Given the description of an element on the screen output the (x, y) to click on. 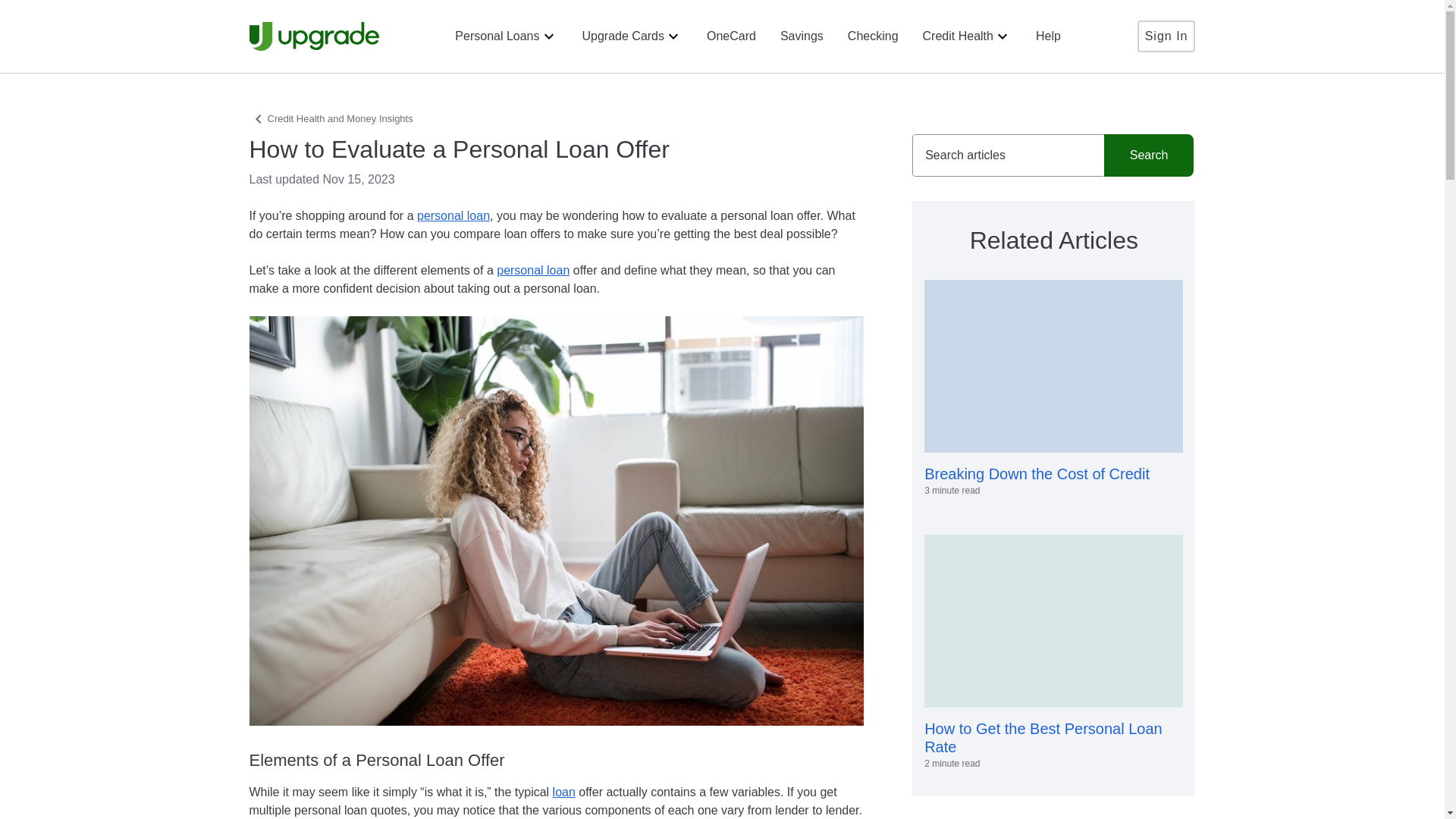
Help (1048, 36)
Savings (802, 36)
loan (564, 791)
OneCard (730, 36)
Personal Loans (505, 36)
Credit Health and Money Insights (721, 118)
personal loan (452, 215)
Search (1148, 155)
Upgrade Cards (1053, 388)
Checking (632, 36)
personal loan (872, 36)
Sign In (532, 269)
Credit Health (1166, 36)
